Given the description of an element on the screen output the (x, y) to click on. 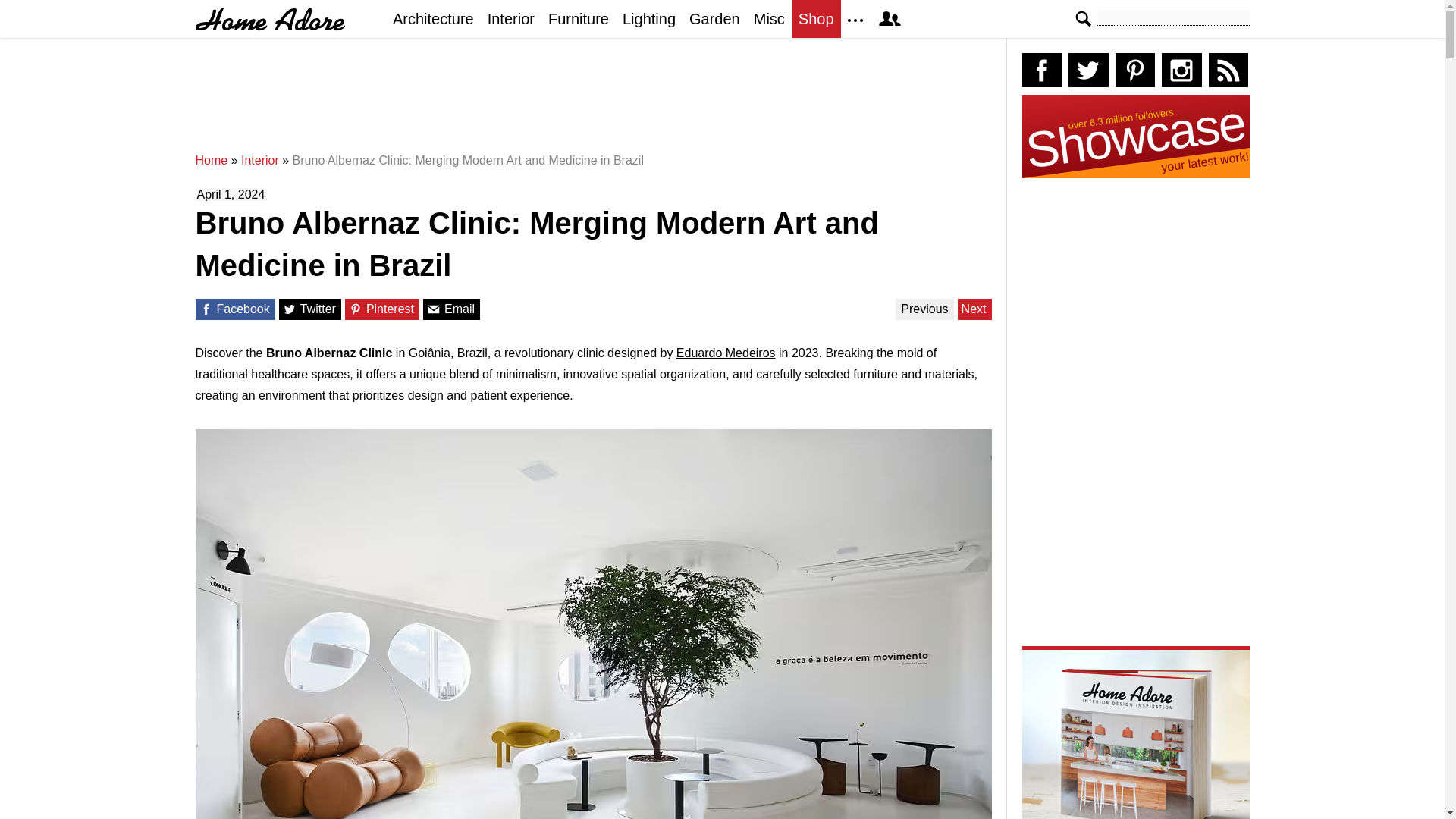
Member Area (889, 17)
Architecture (432, 18)
Interior (260, 160)
Lighting (648, 18)
HomeAdore (270, 19)
Advertisement (596, 101)
Share on Twitter (289, 309)
Home (211, 160)
